Given the description of an element on the screen output the (x, y) to click on. 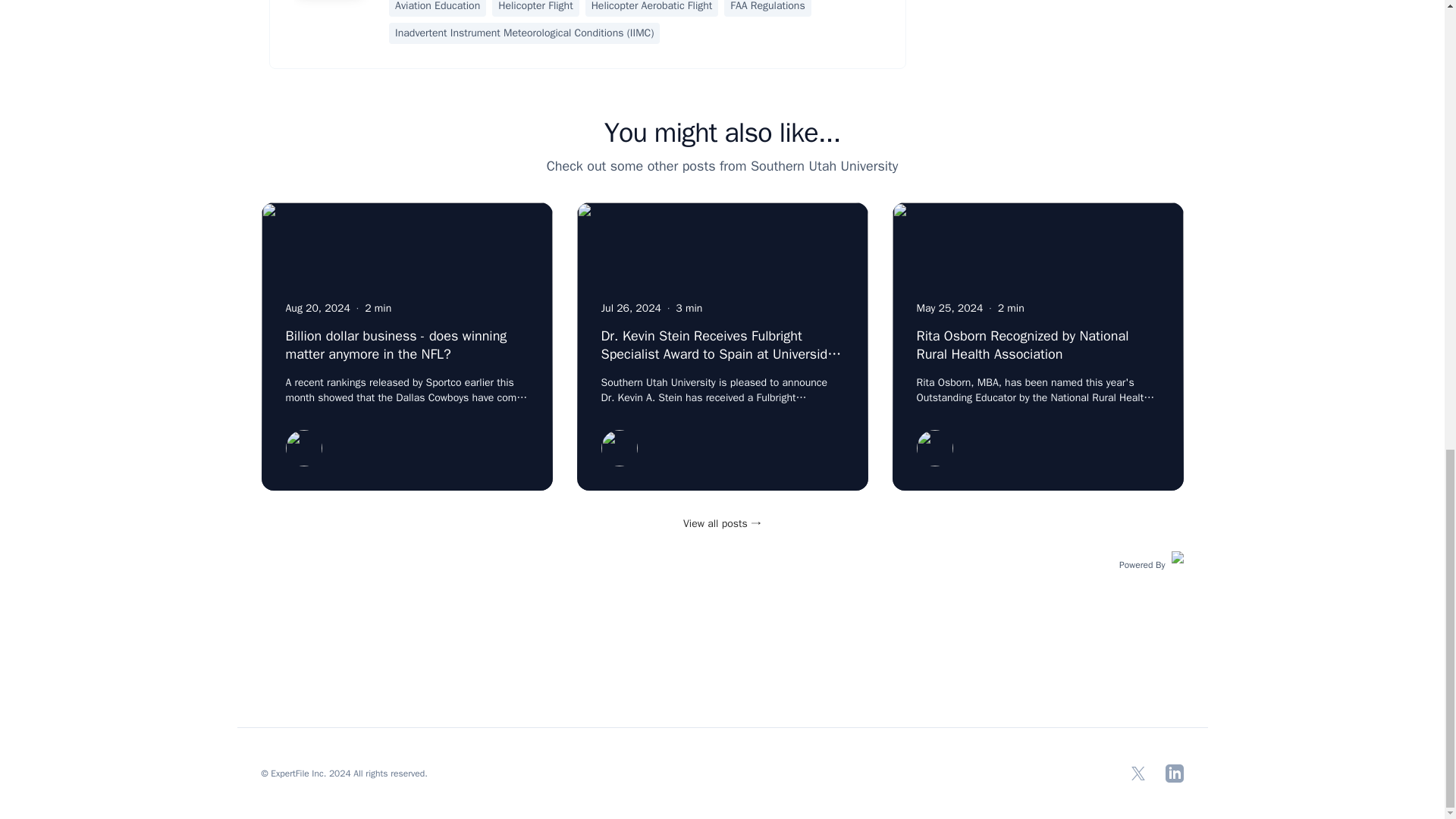
Powered By (1150, 563)
X (1137, 773)
LinkedIn (1173, 773)
Rita Osborn Recognized by National Rural Health Association (1021, 344)
